Given the description of an element on the screen output the (x, y) to click on. 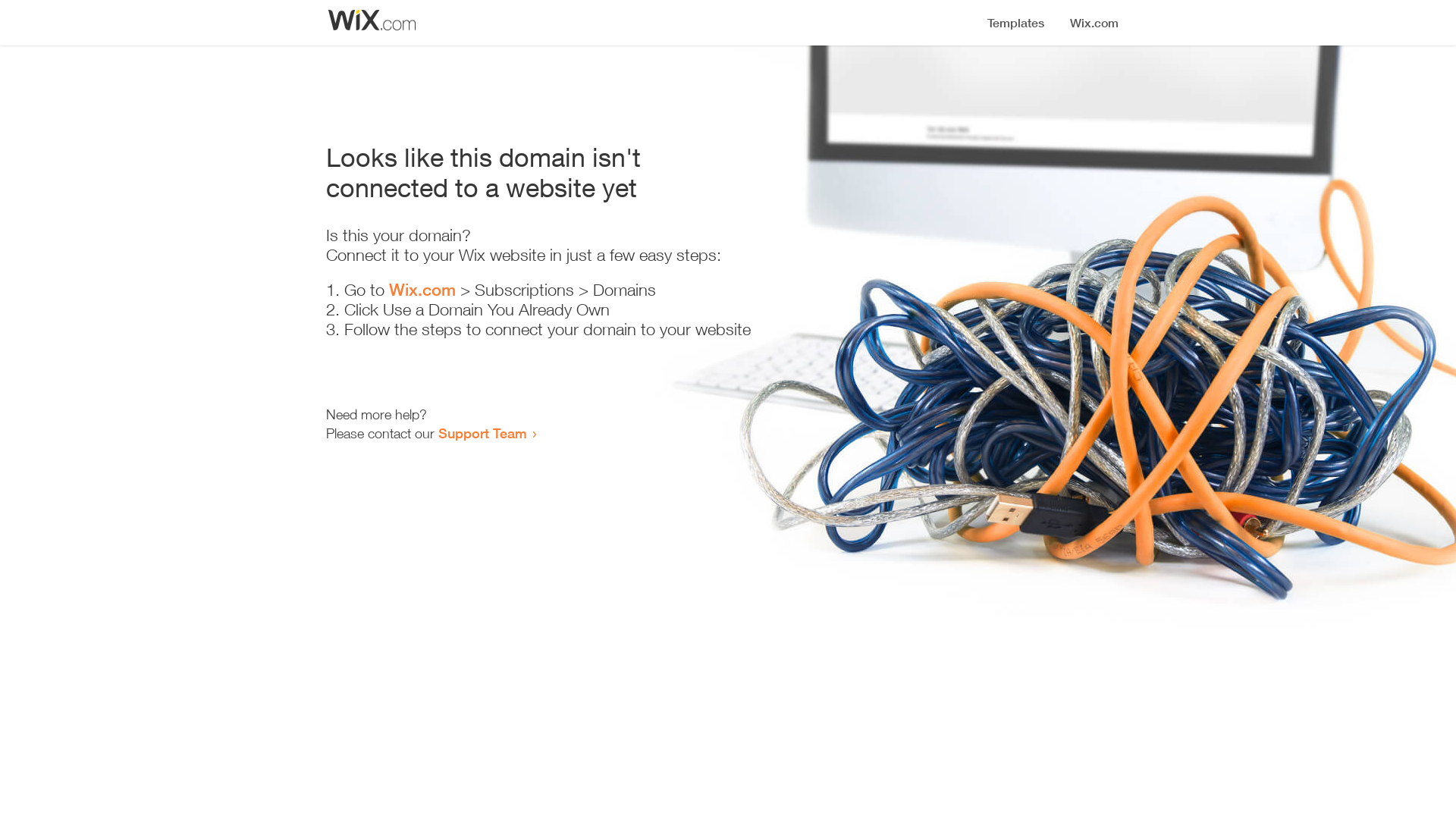
Wix.com Element type: text (422, 289)
Support Team Element type: text (482, 432)
